Given the description of an element on the screen output the (x, y) to click on. 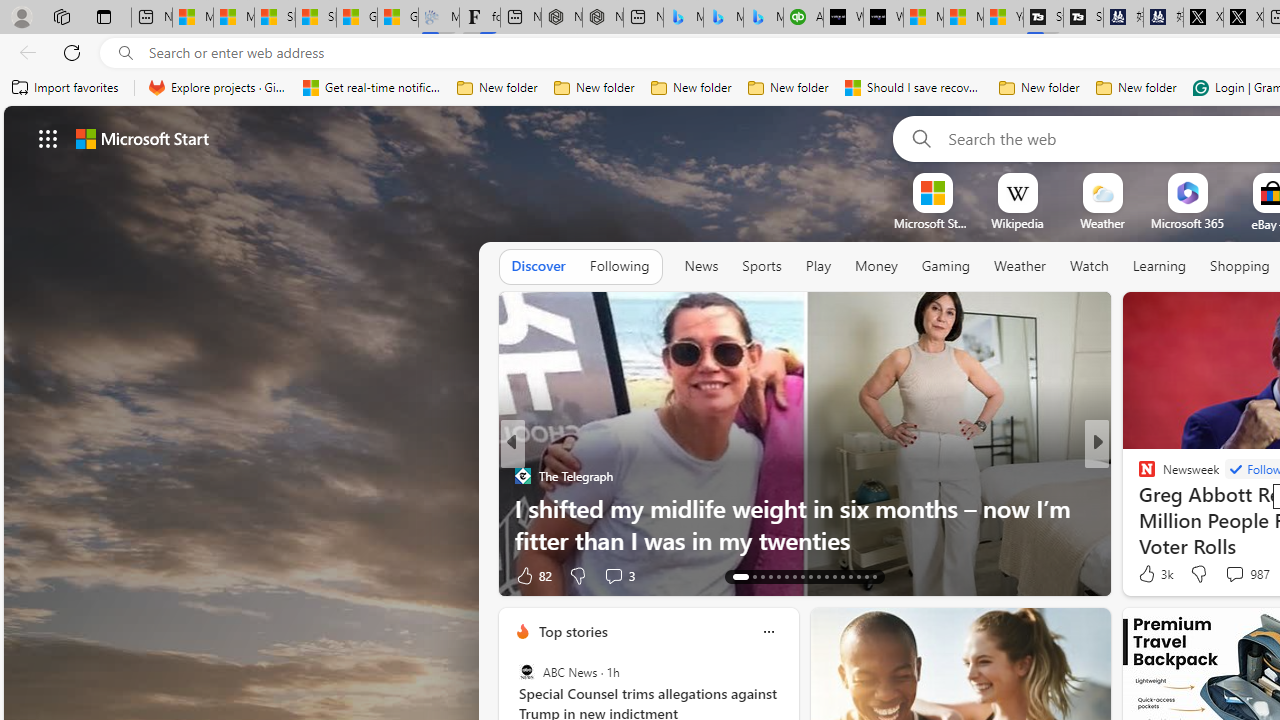
View comments 251 Comment (1234, 575)
The Daily Beast (1138, 475)
AutomationID: tab-19 (793, 576)
AutomationID: tab-24 (833, 576)
New folder (1136, 88)
241 Like (1151, 574)
3k Like (1154, 574)
AutomationID: tab-14 (754, 576)
Import favorites (65, 88)
Wikipedia (1017, 223)
View comments 3 Comment (618, 574)
